Given the description of an element on the screen output the (x, y) to click on. 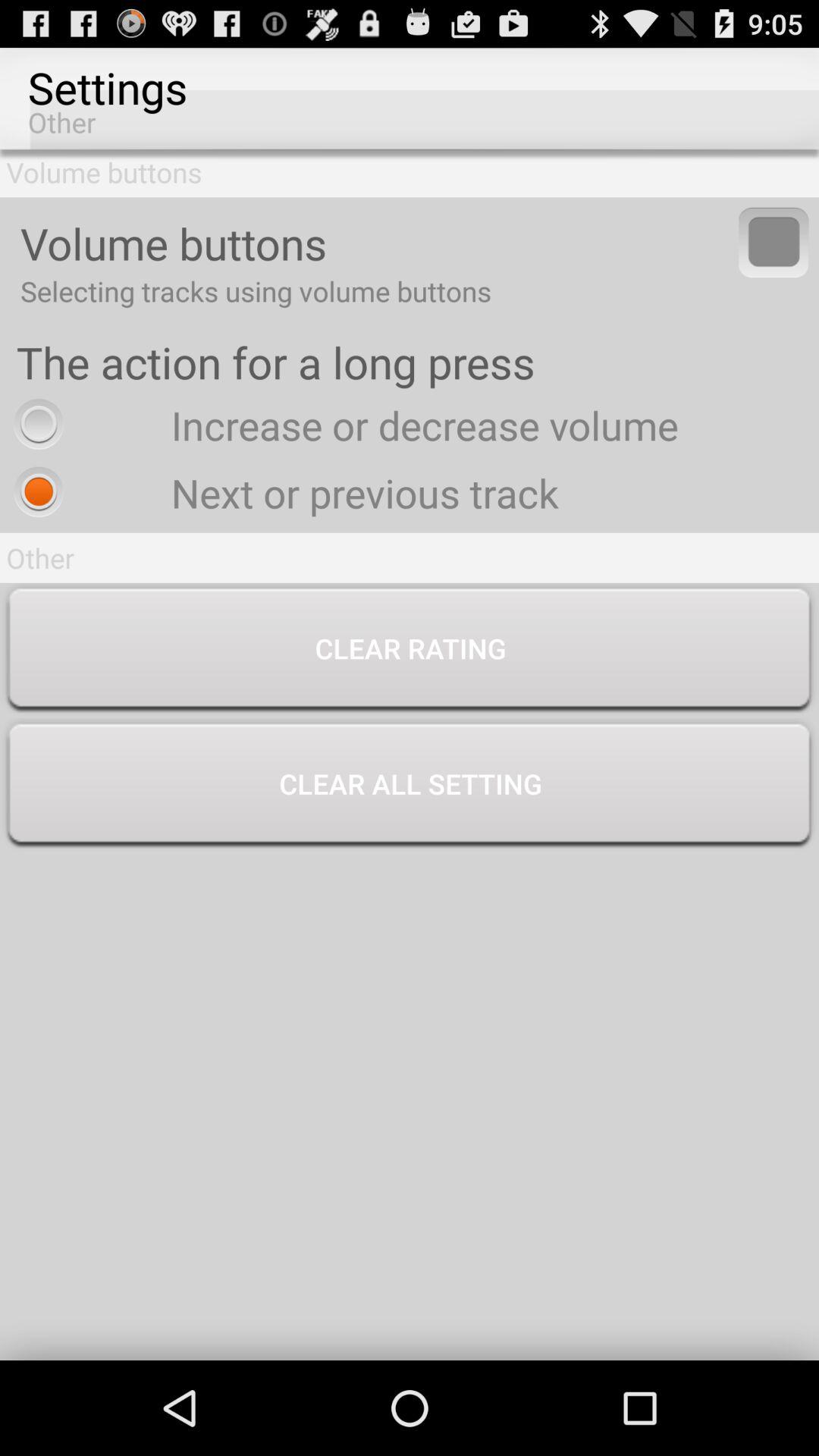
turn off button above the clear all setting icon (409, 650)
